Given the description of an element on the screen output the (x, y) to click on. 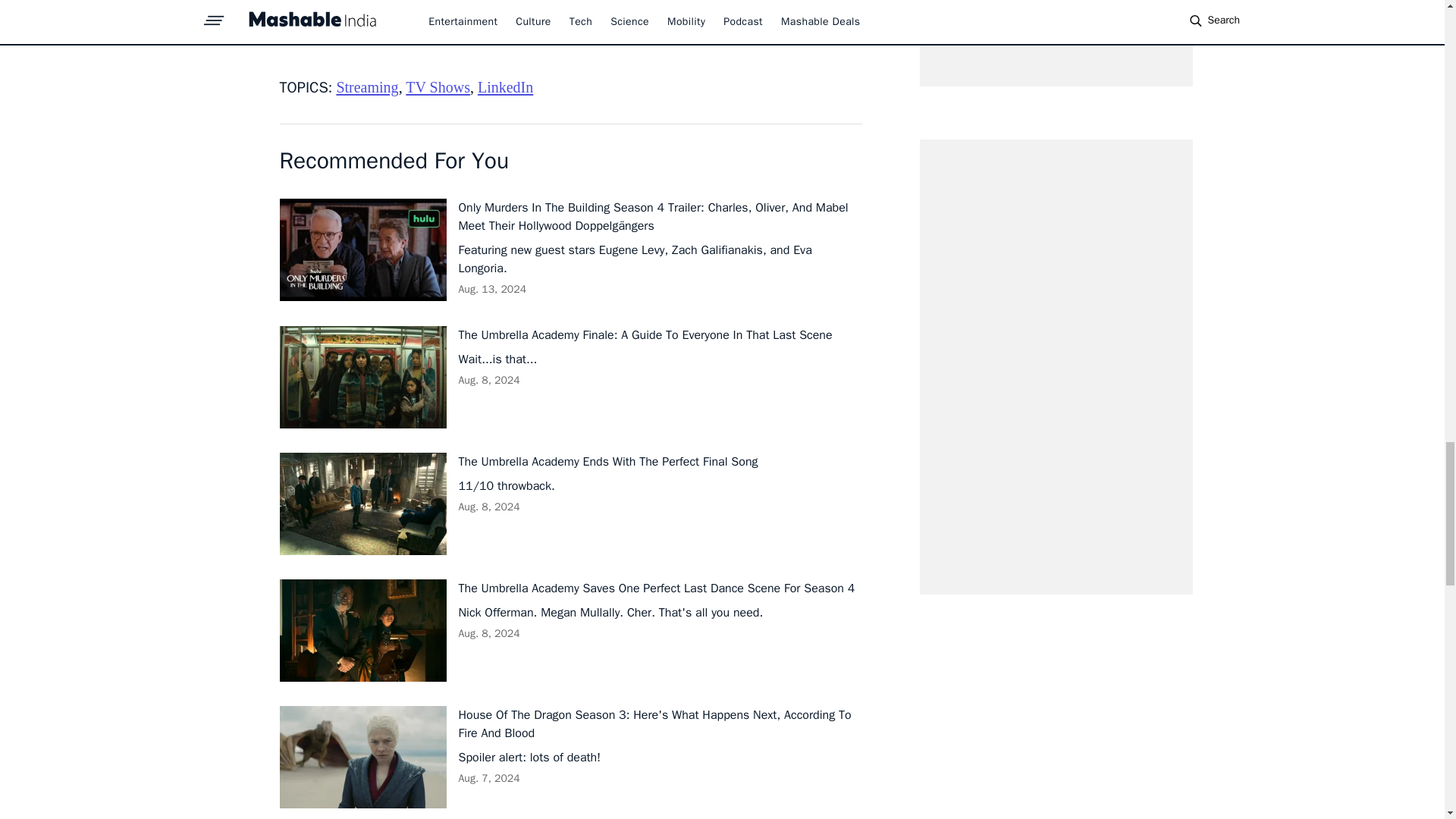
LinkedIn (504, 86)
TV Shows (438, 86)
Streaming (366, 86)
